Given the description of an element on the screen output the (x, y) to click on. 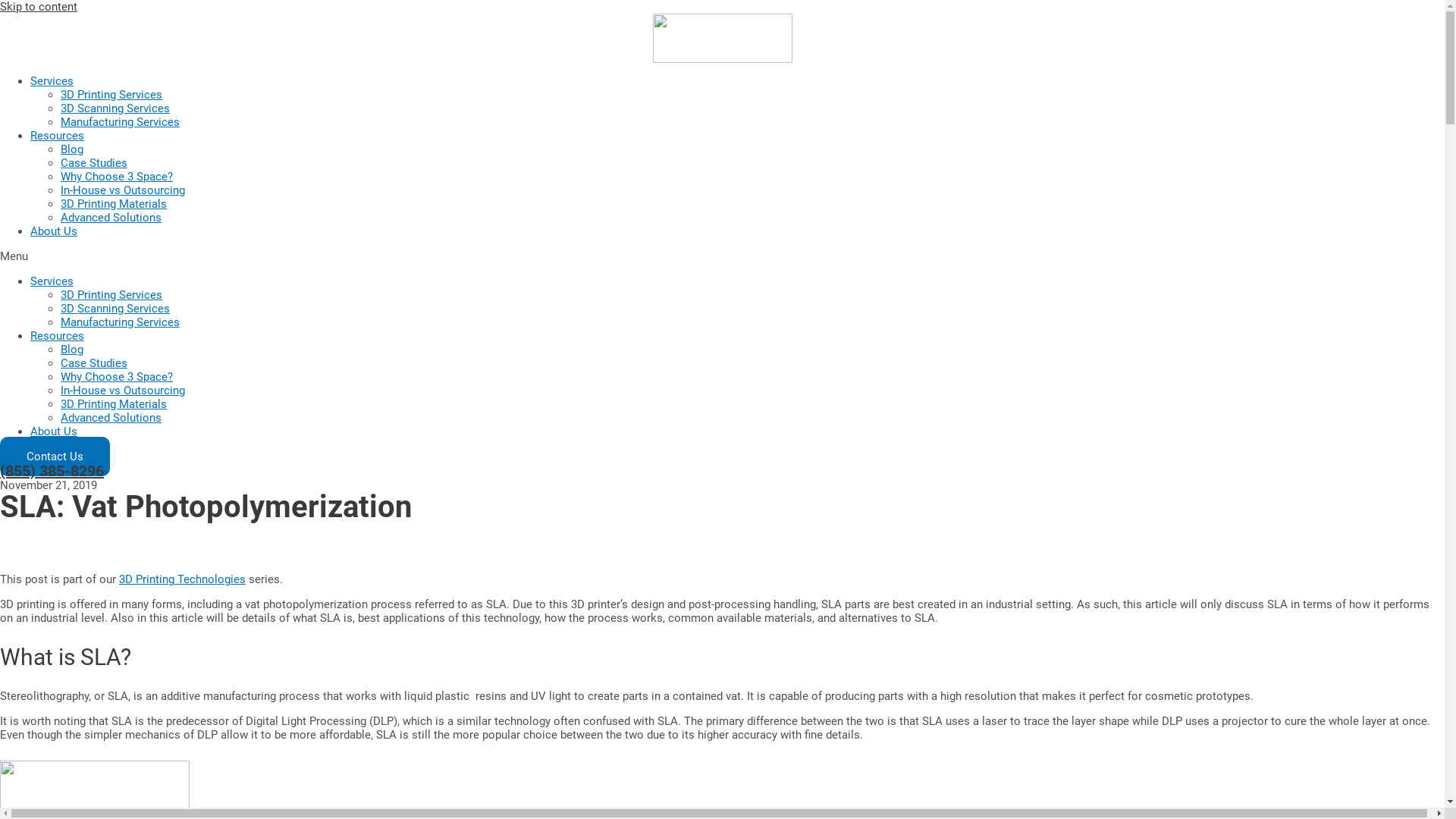
Why Choose 3 Space? Element type: text (116, 376)
3D Printing Materials Element type: text (113, 203)
In-House vs Outsourcing Element type: text (122, 390)
Case Studies Element type: text (93, 363)
Advanced Solutions Element type: text (110, 417)
Contact Us Element type: text (54, 456)
3D Scanning Services Element type: text (114, 108)
In-House vs Outsourcing Element type: text (122, 190)
About Us Element type: text (53, 231)
Resources Element type: text (57, 135)
3D Printing Materials Element type: text (113, 404)
Resources Element type: text (57, 335)
3D Scanning Services Element type: text (114, 308)
3D Printing Technologies Element type: text (182, 579)
3D Printing Services Element type: text (111, 294)
Services Element type: text (51, 281)
Advanced Solutions Element type: text (110, 217)
Services Element type: text (51, 80)
Blog Element type: text (71, 349)
(855) 385-8296 Element type: text (51, 470)
About Us Element type: text (53, 431)
Manufacturing Services Element type: text (119, 121)
Blog Element type: text (71, 149)
3D Printing Services Element type: text (111, 94)
Why Choose 3 Space? Element type: text (116, 176)
Manufacturing Services Element type: text (119, 322)
Skip to content Element type: text (38, 6)
Case Studies Element type: text (93, 162)
